Given the description of an element on the screen output the (x, y) to click on. 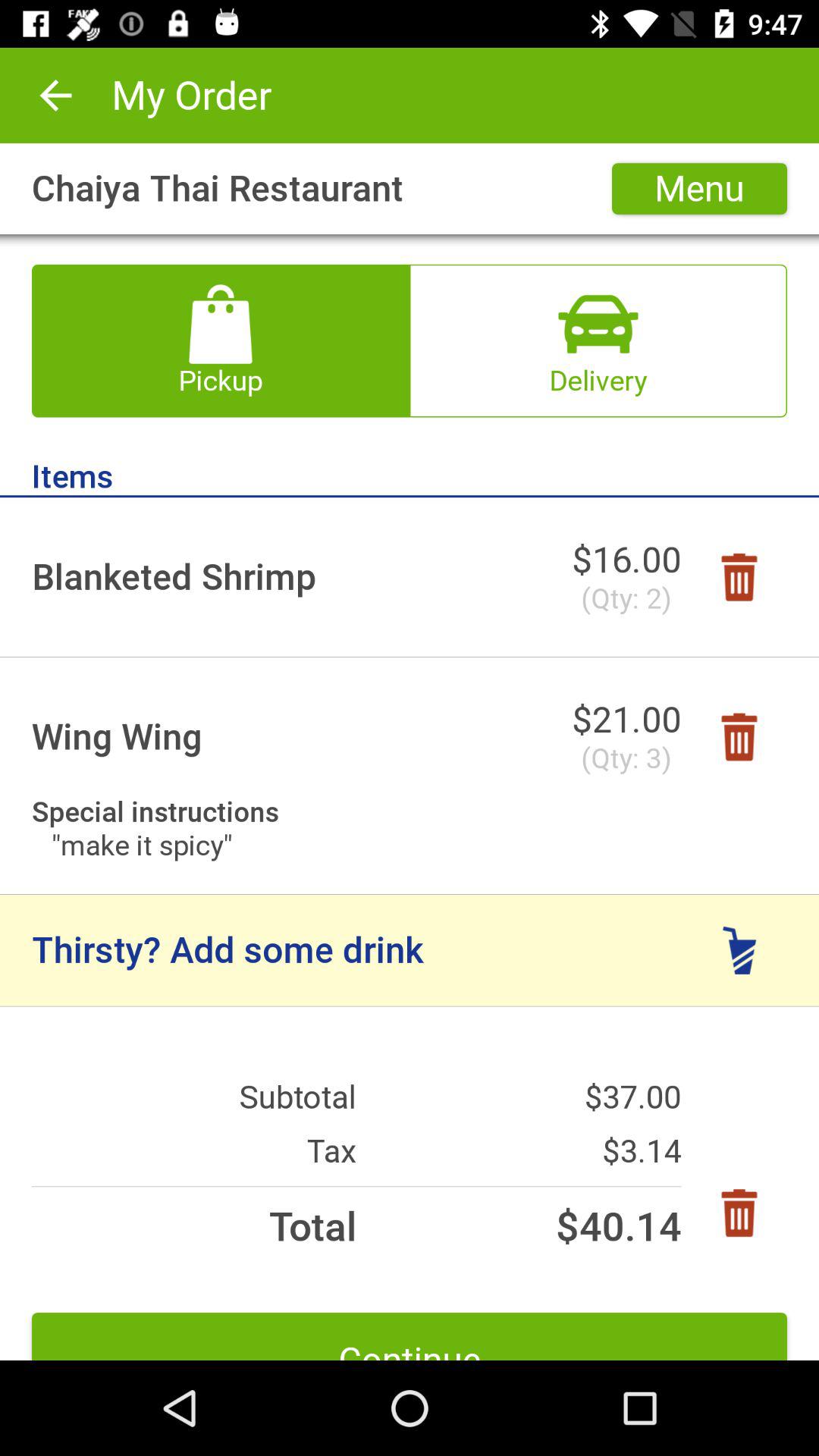
turn on icon below total icon (409, 1336)
